Given the description of an element on the screen output the (x, y) to click on. 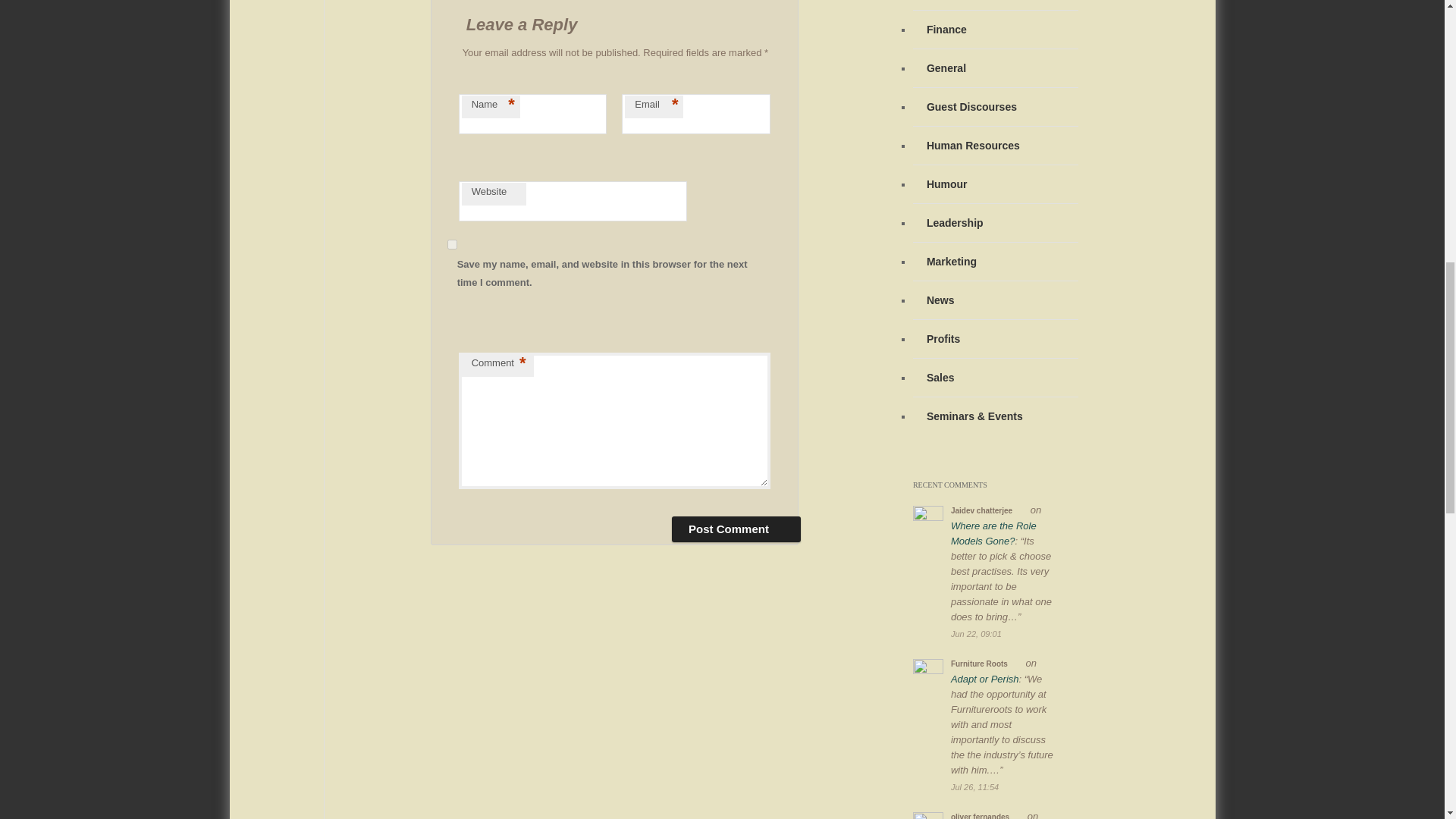
Post Comment (735, 529)
Post Comment (735, 529)
yes (451, 244)
